Given the description of an element on the screen output the (x, y) to click on. 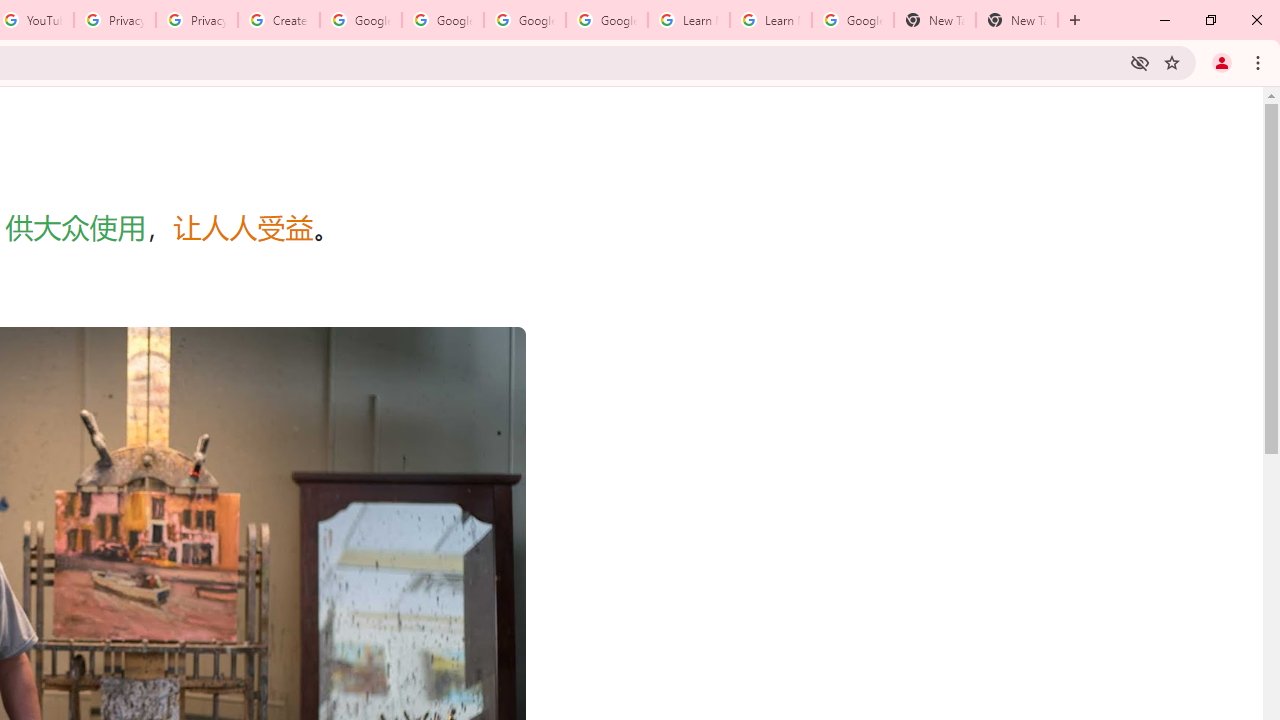
New Tab (934, 20)
Google Account (852, 20)
New Tab (1016, 20)
Create your Google Account (278, 20)
Google Account Help (442, 20)
